Given the description of an element on the screen output the (x, y) to click on. 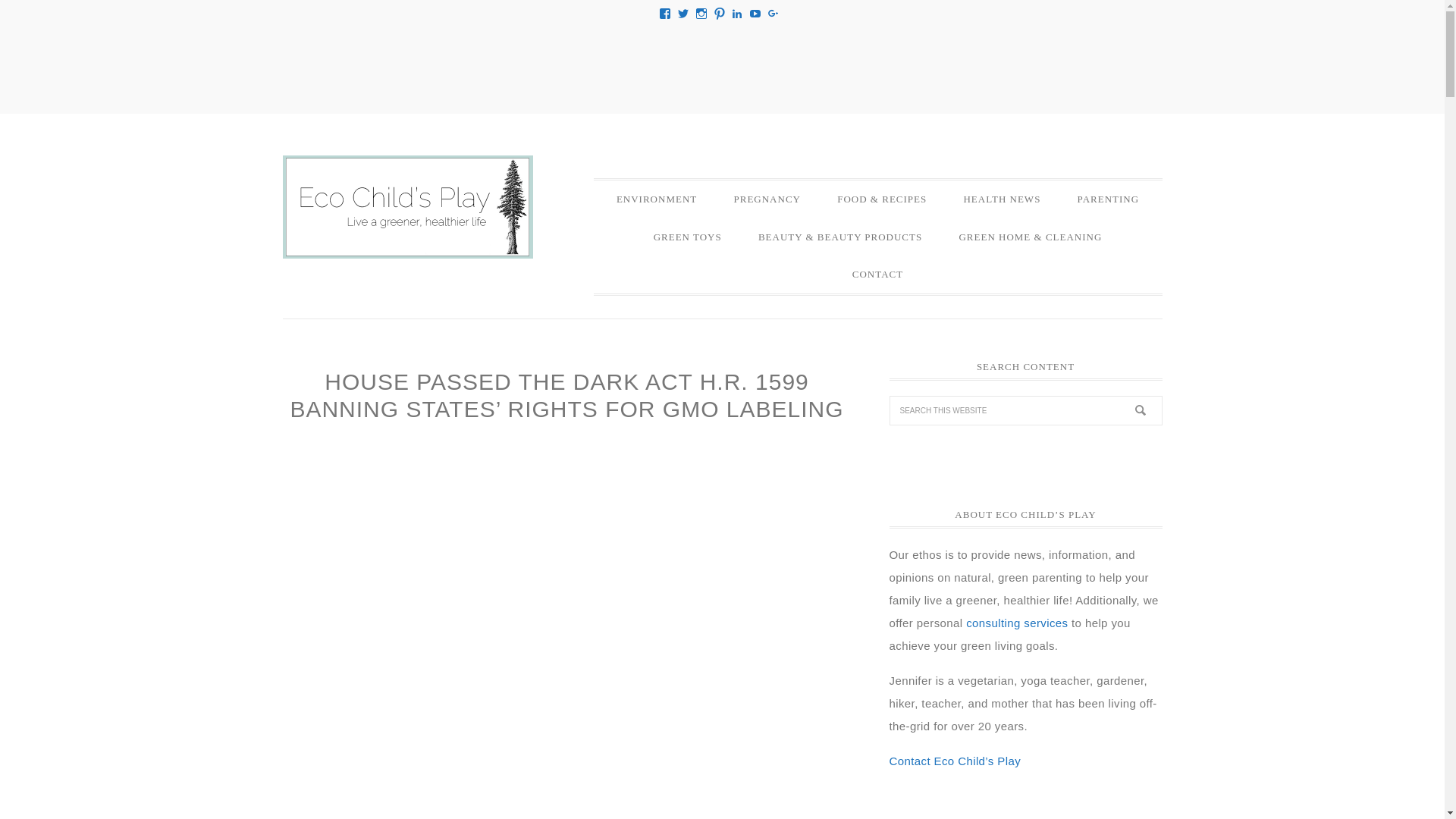
HEALTH NEWS (1001, 199)
Advertisement (721, 64)
PARENTING (1108, 199)
PREGNANCY (766, 199)
GREEN TOYS (687, 237)
ECO CHILD'S PLAY (407, 206)
ENVIRONMENT (656, 199)
CONTACT (877, 274)
